Given the description of an element on the screen output the (x, y) to click on. 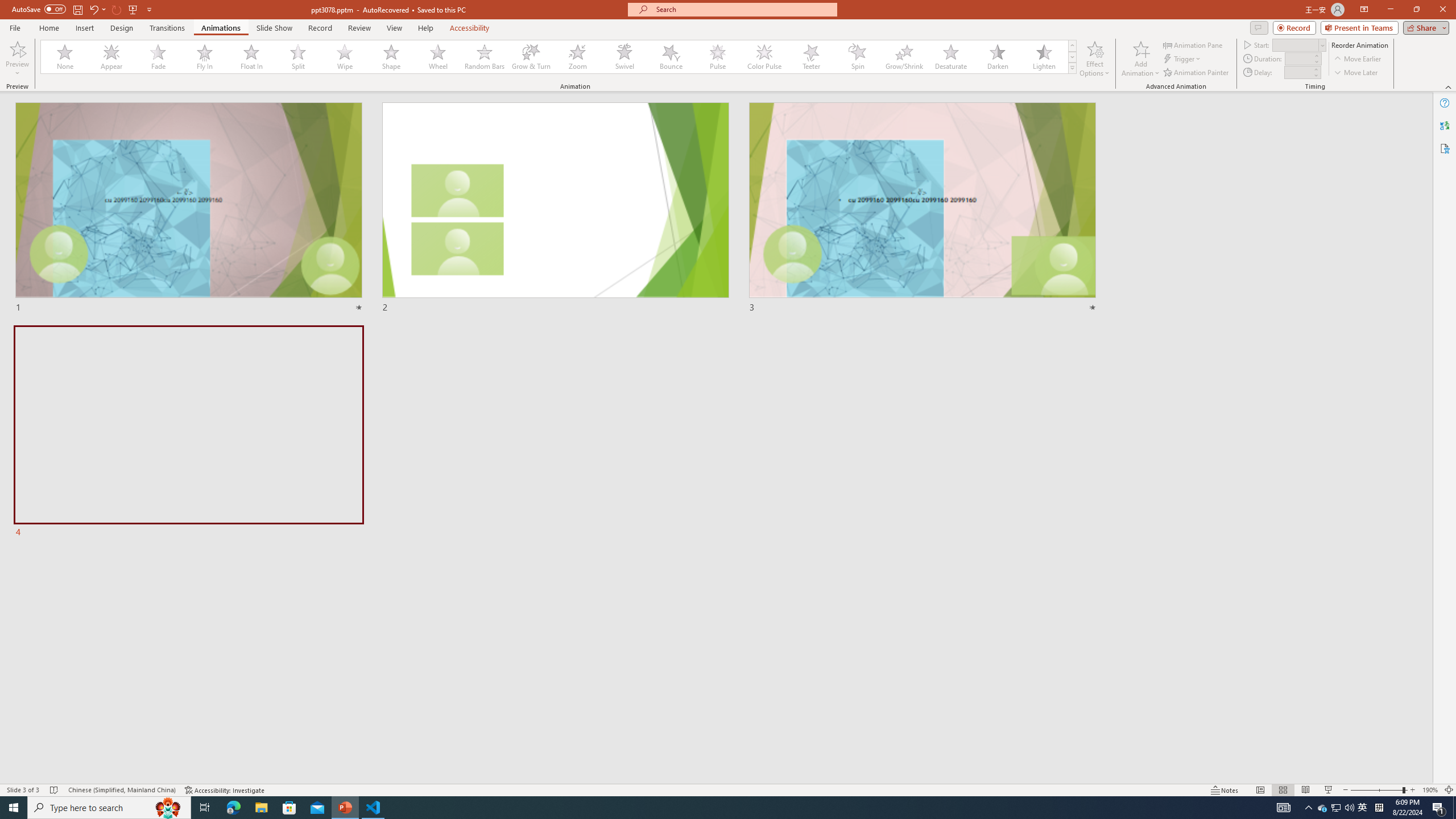
Add Animation (1141, 58)
Bounce (670, 56)
AutomationID: AnimationGallery (558, 56)
Spin (857, 56)
Animation Duration (1298, 58)
Animation Painter (1196, 72)
Pulse (717, 56)
